Given the description of an element on the screen output the (x, y) to click on. 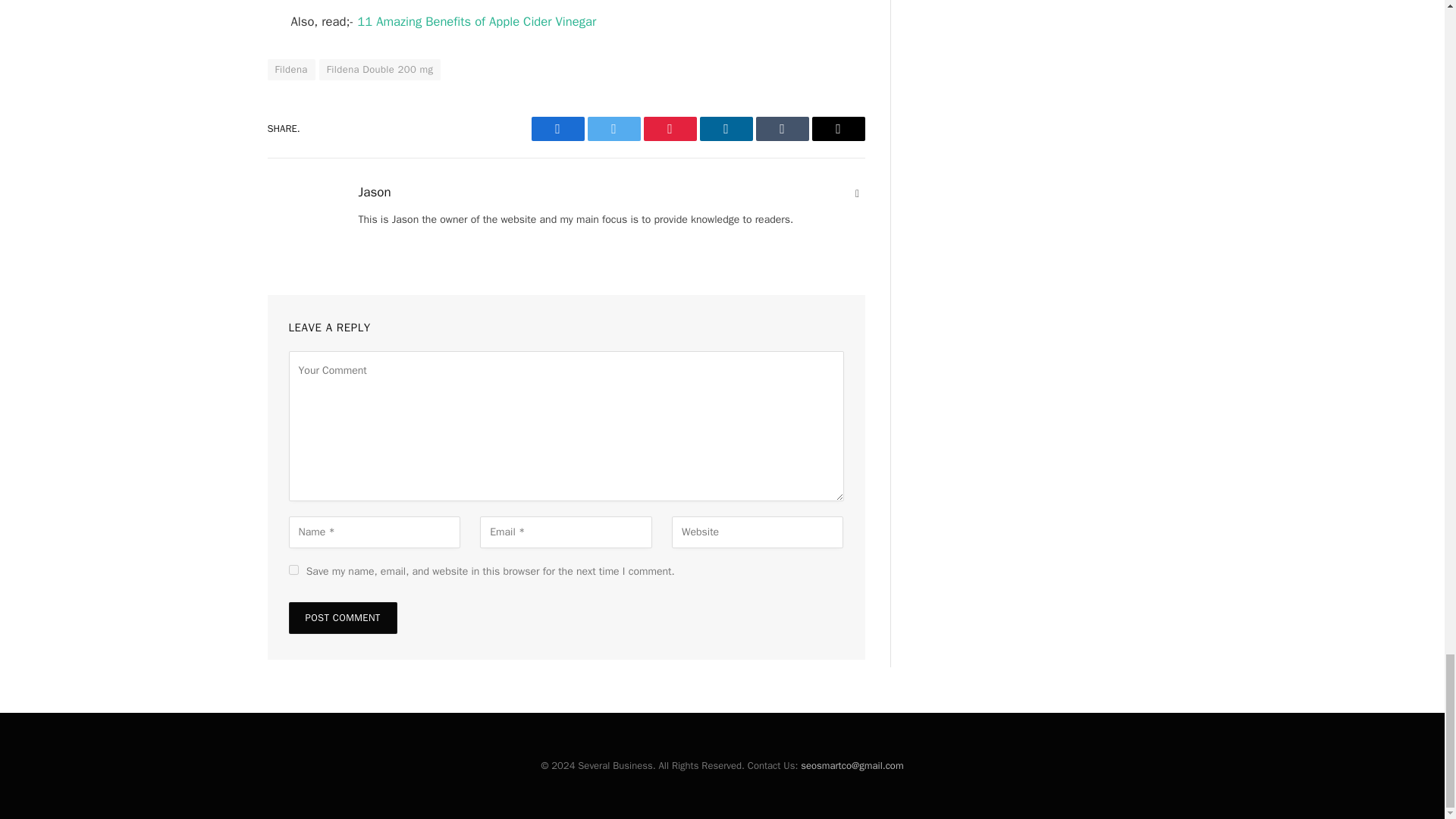
Post Comment (342, 617)
yes (293, 569)
